Given the description of an element on the screen output the (x, y) to click on. 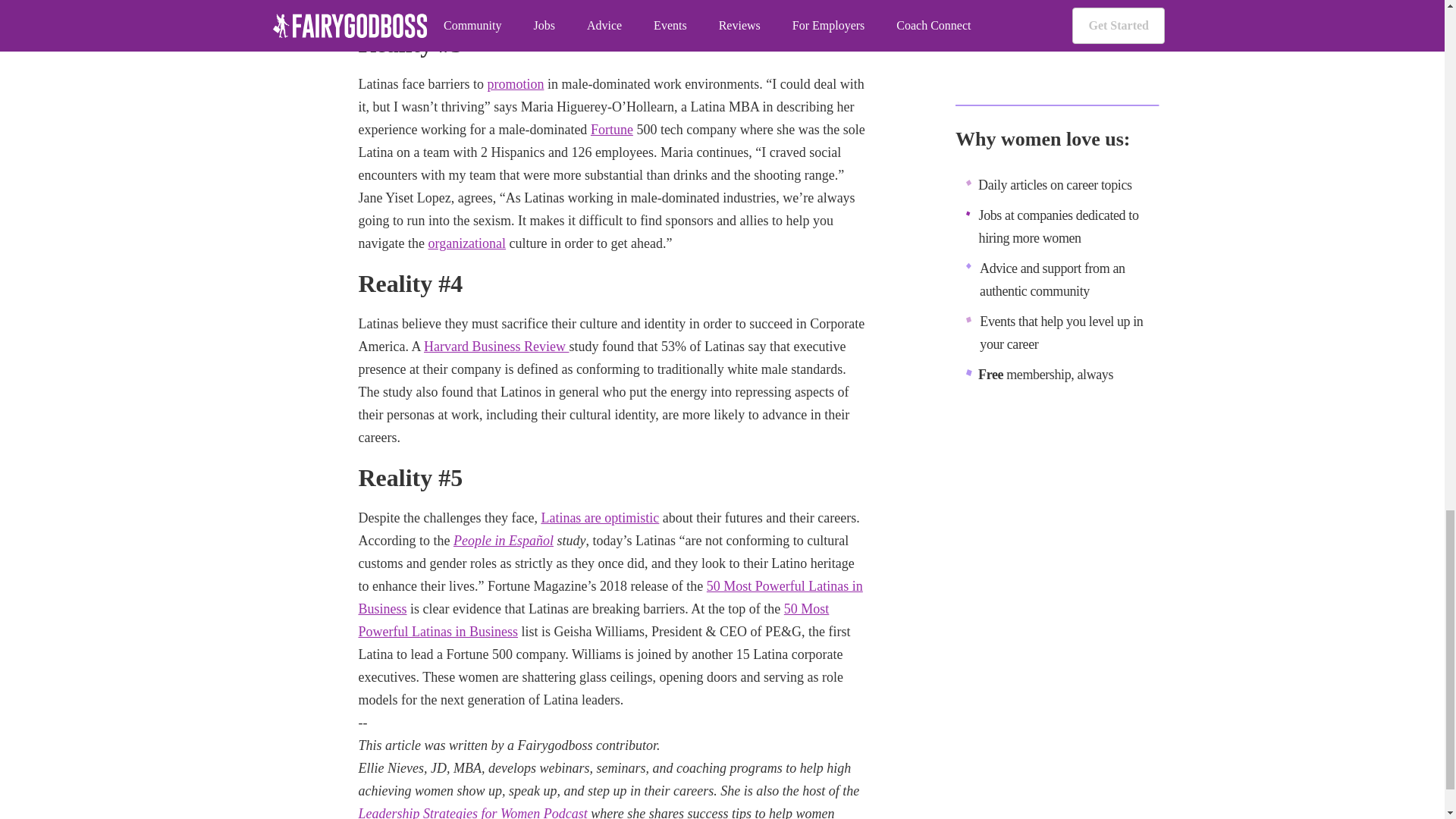
50 Most Powerful Latinas in Business (593, 620)
Latinas are optimistic (599, 517)
Harvard Business Review  (496, 346)
Fortune (612, 129)
50 Most Powerful Latinas in Business (609, 597)
organizational (466, 242)
promotion (514, 83)
